Given the description of an element on the screen output the (x, y) to click on. 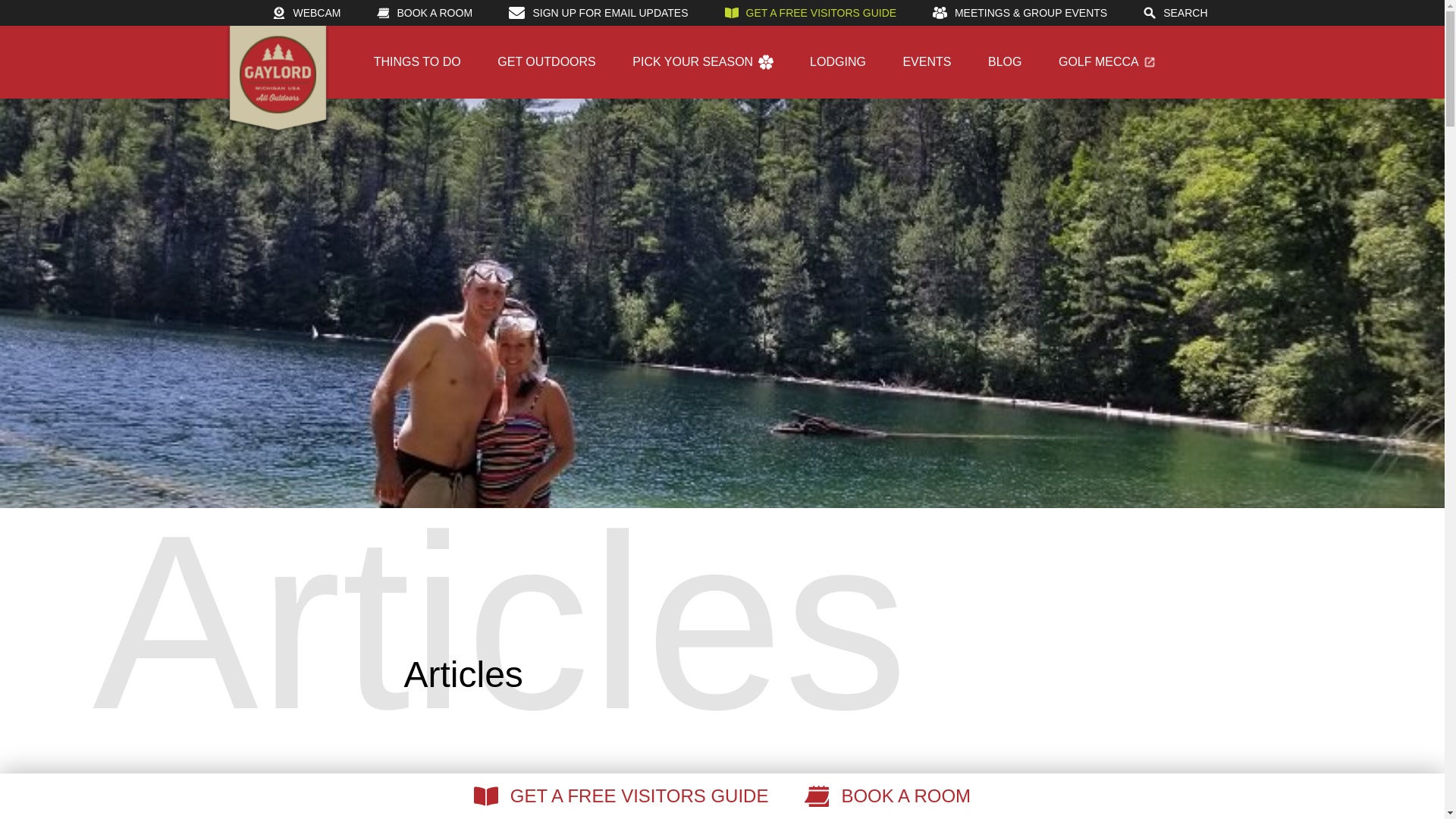
PICK YOUR SEASON (702, 61)
SKIP TO CONTENT (721, 14)
GET OUTDOORS (546, 61)
GET A FREE VISITORS GUIDE (810, 12)
SIGN UP FOR EMAIL UPDATES (597, 12)
WEBCAM (306, 12)
LODGING (837, 61)
THINGS TO DO (417, 61)
BOOK A ROOM (424, 12)
